Given the description of an element on the screen output the (x, y) to click on. 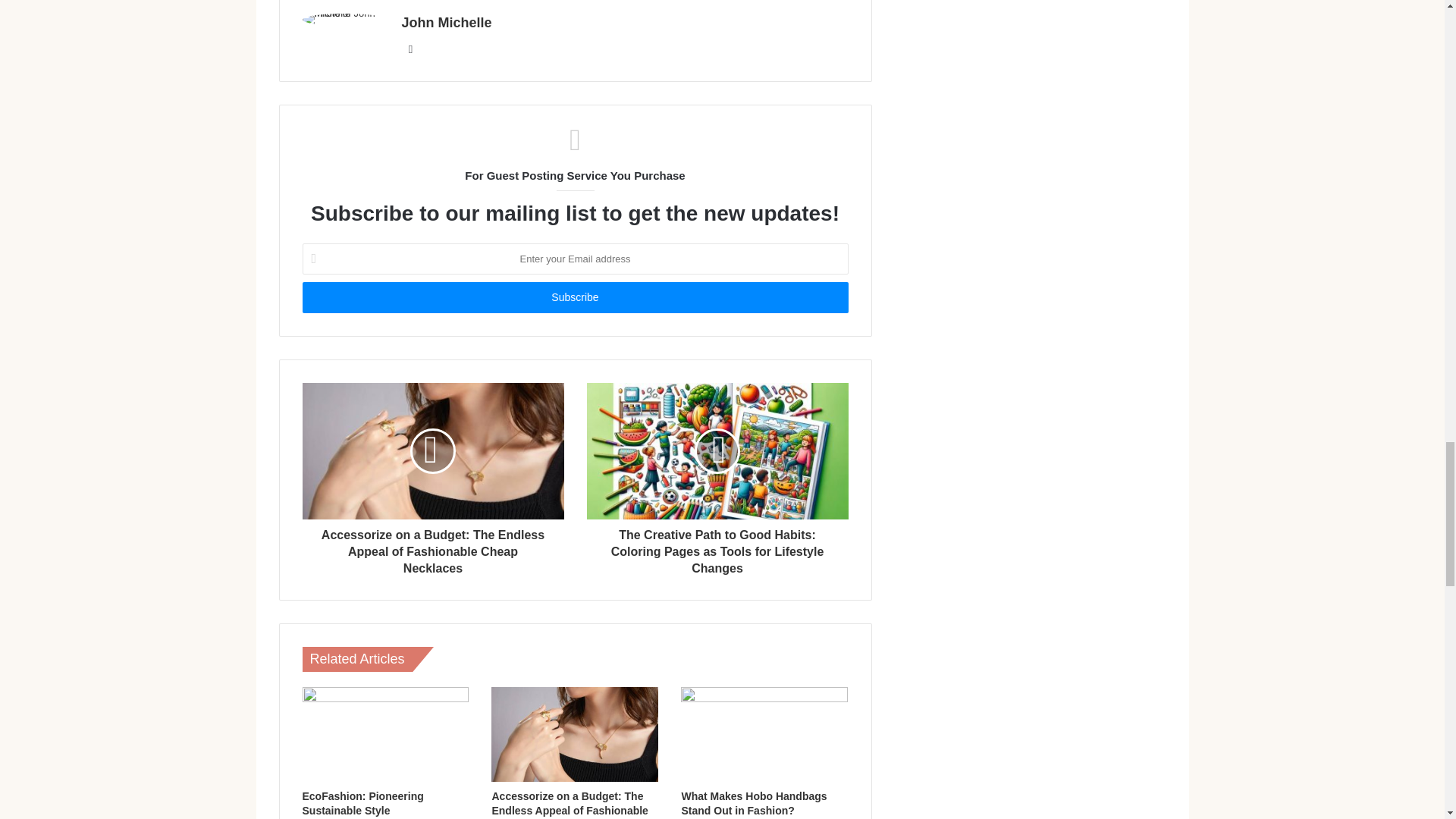
Subscribe (574, 296)
